Given the description of an element on the screen output the (x, y) to click on. 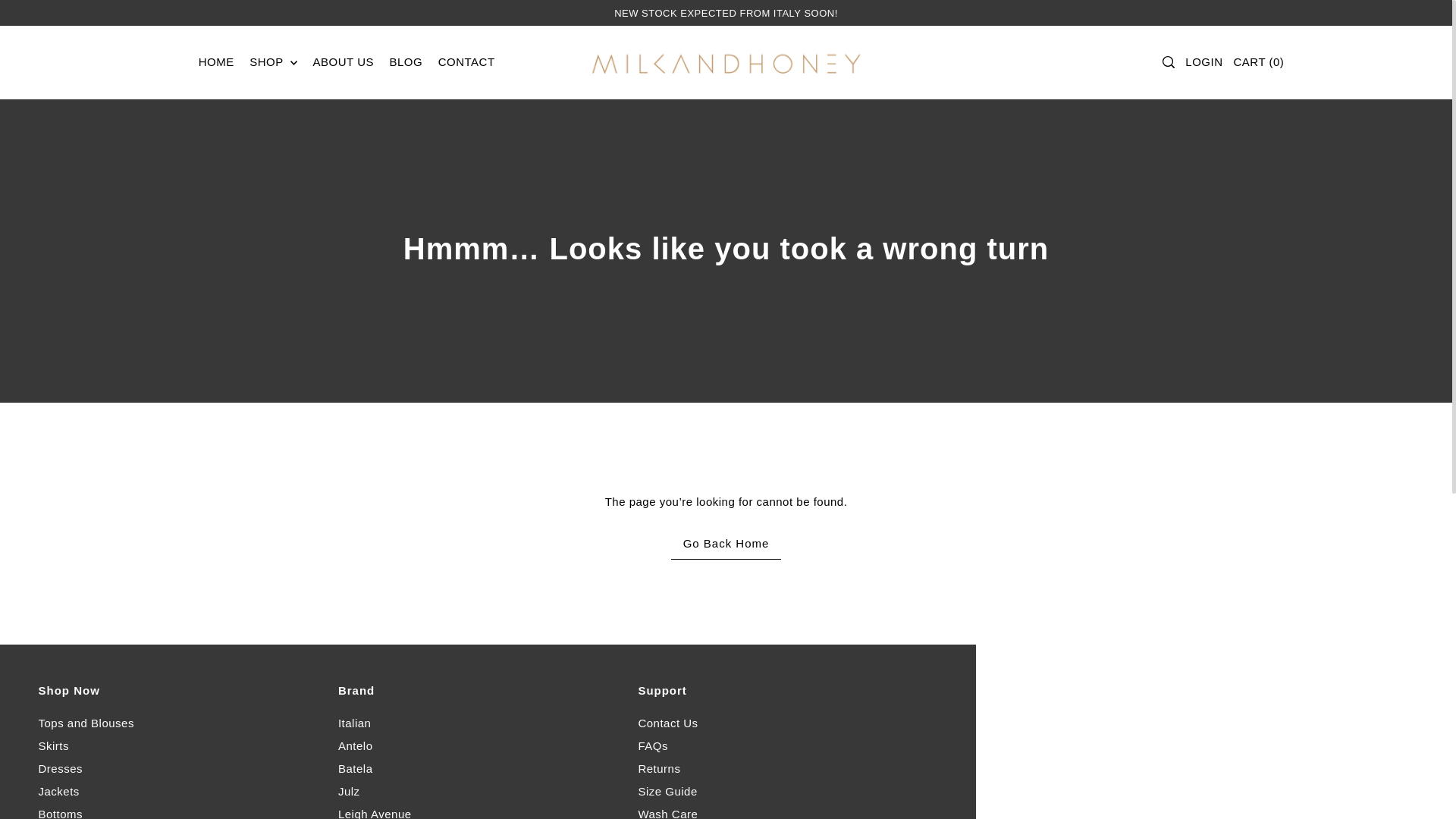
HOME (215, 62)
SHOP (272, 62)
